Given the description of an element on the screen output the (x, y) to click on. 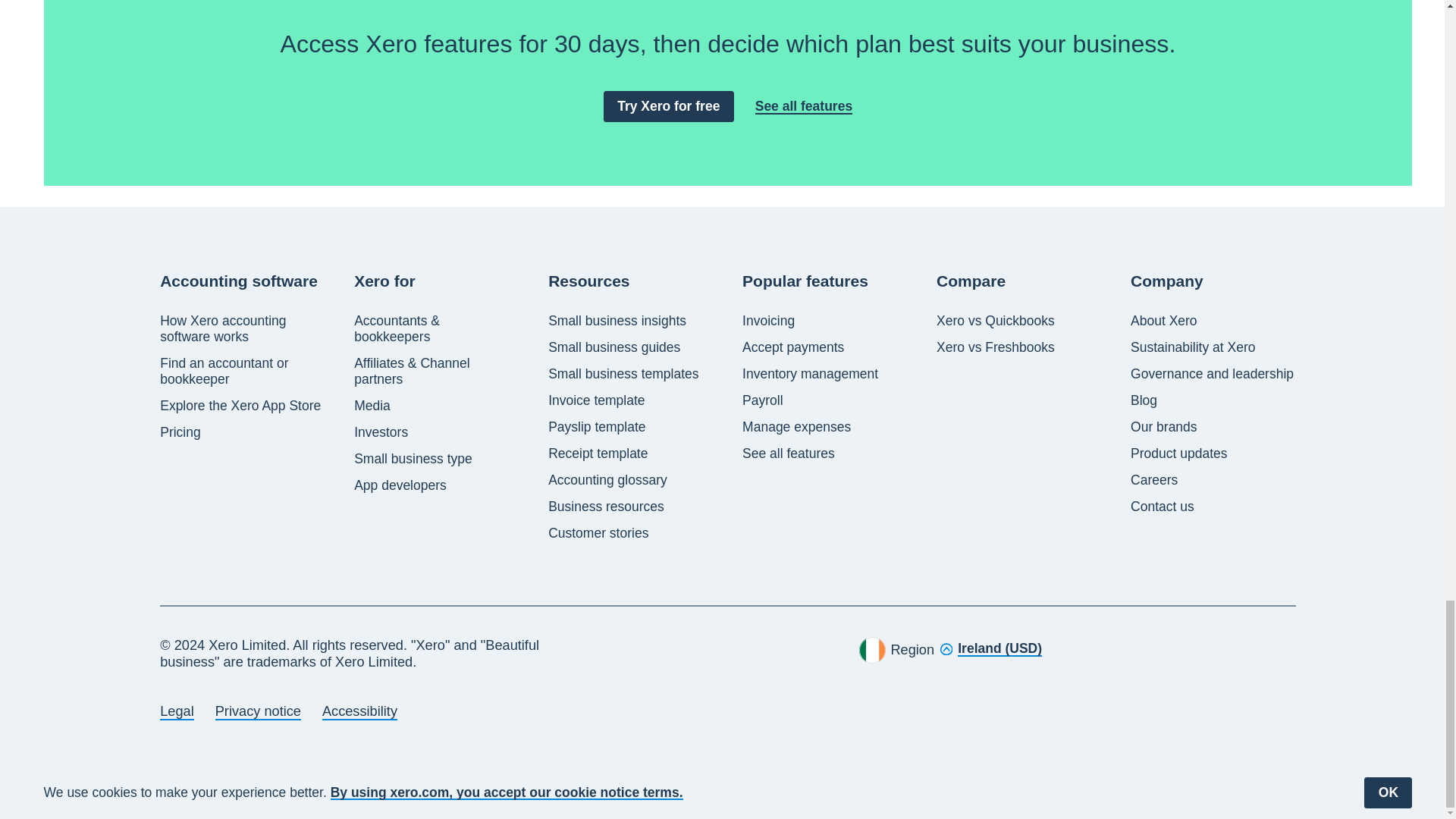
How Xero accounting software works (242, 328)
Find an accountant or bookkeeper (242, 371)
Try Xero for free (668, 106)
Explore the Xero App Store (240, 406)
Media (371, 406)
Pricing (180, 432)
See all features (803, 106)
